Given the description of an element on the screen output the (x, y) to click on. 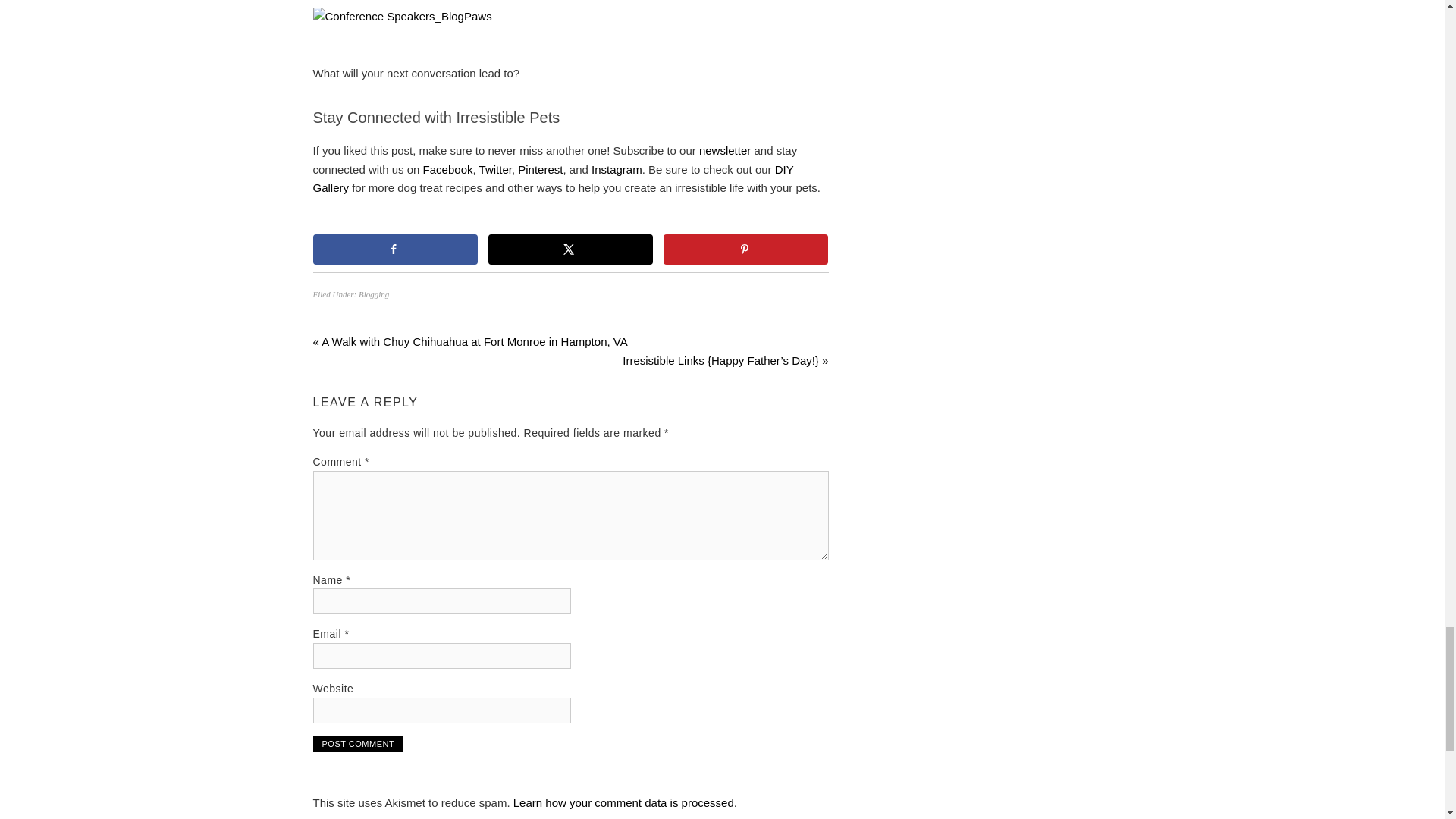
Blogging (373, 293)
DIY Gallery (553, 178)
newsletter (726, 150)
Save to Pinterest (745, 248)
Learn how your comment data is processed (623, 802)
Post Comment (358, 743)
Instagram (616, 169)
Twitter (495, 169)
Share on Facebook (395, 248)
Share on X (570, 248)
Pinterest (540, 169)
Post Comment (358, 743)
Facebook (448, 169)
